Given the description of an element on the screen output the (x, y) to click on. 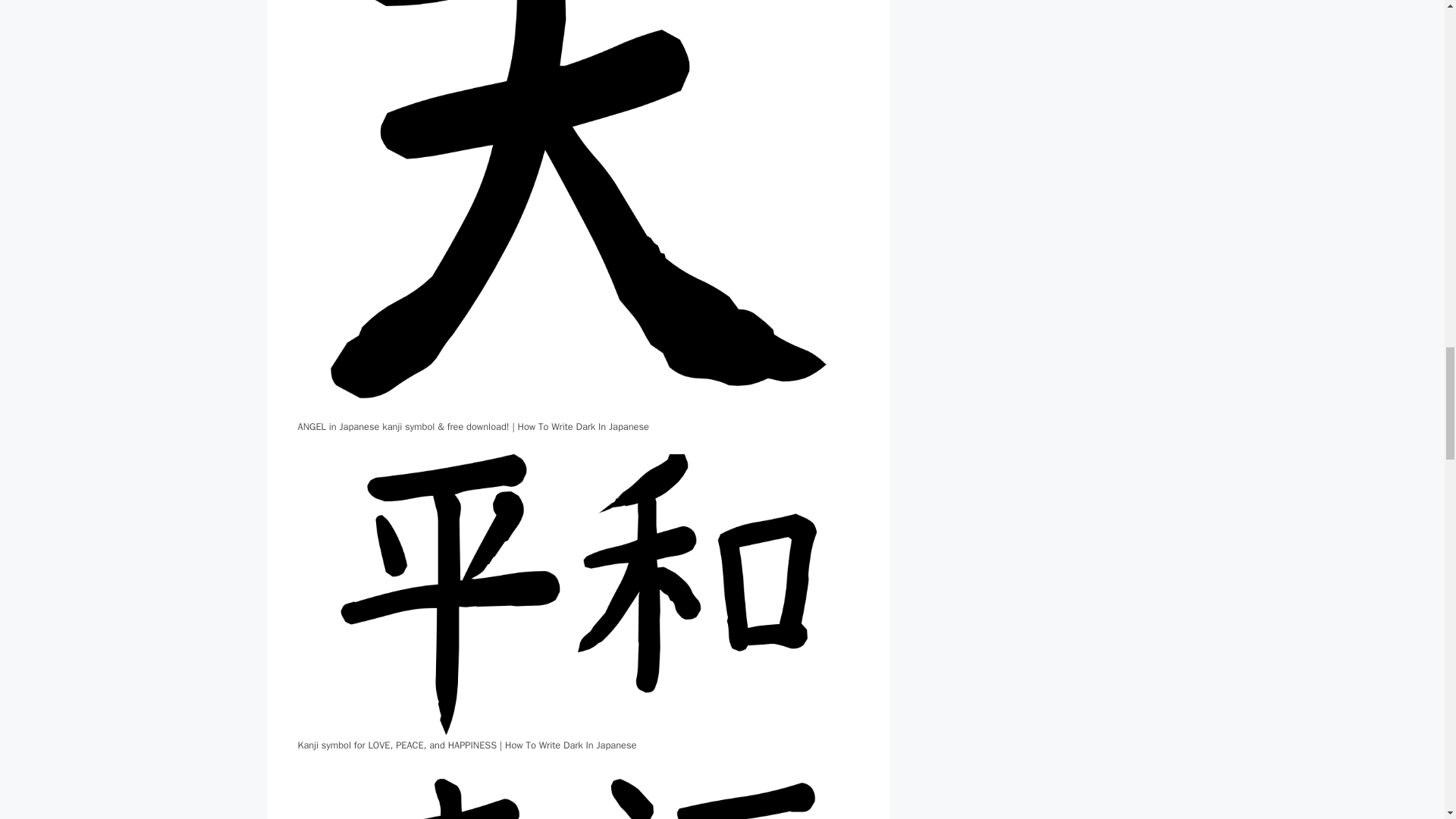
Kanji symbol for LOVE, PEACE, and HAPPINESS (578, 795)
